Given the description of an element on the screen output the (x, y) to click on. 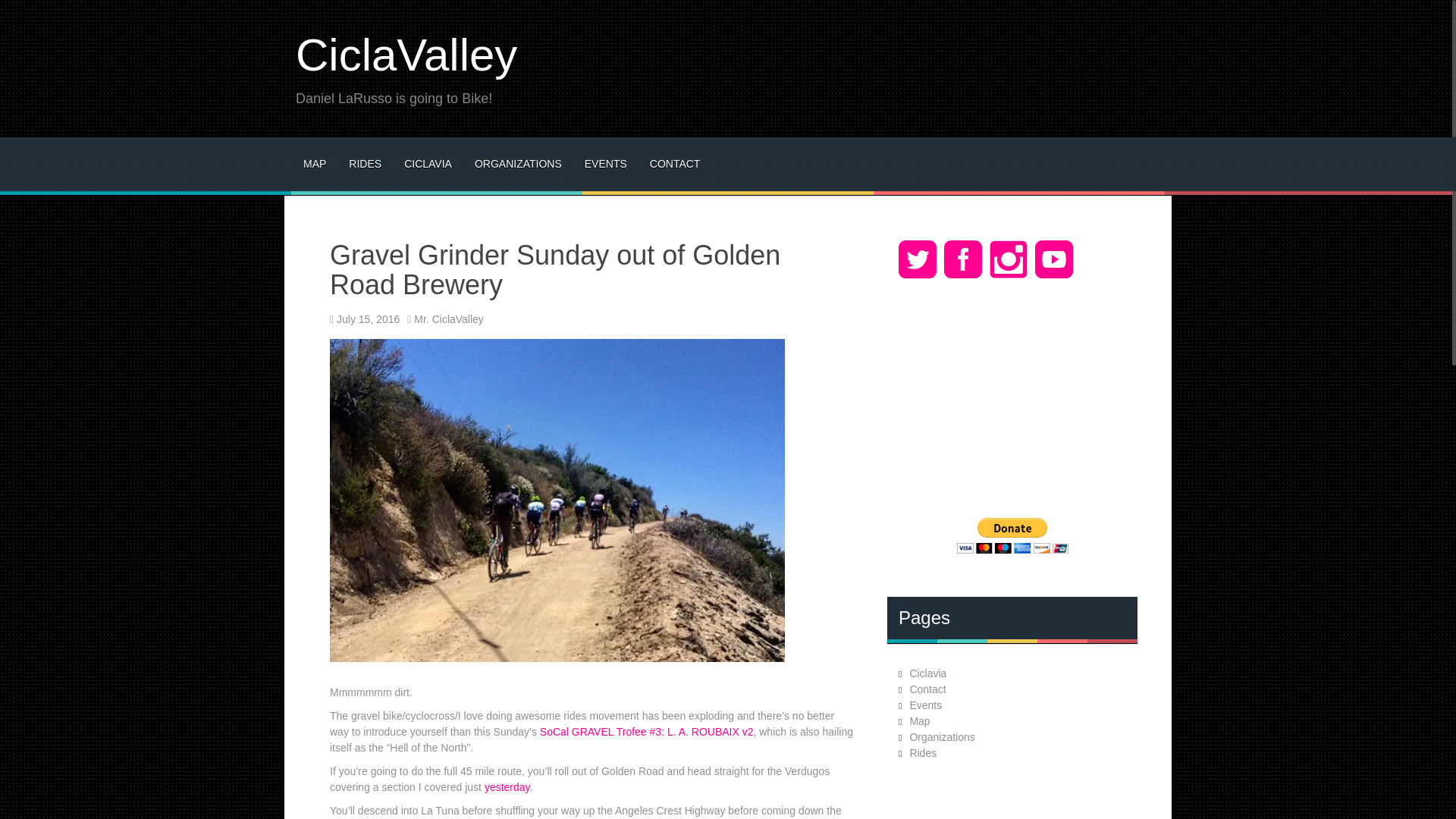
EVENTS (606, 163)
Mr. CiclaValley (448, 318)
yesterday (506, 787)
ORGANIZATIONS (518, 163)
PayPal - The safer, easier way to pay online! (1012, 535)
Map (919, 720)
CiclaValley (405, 54)
Rides (922, 752)
RIDES (365, 163)
CONTACT (674, 163)
